Given the description of an element on the screen output the (x, y) to click on. 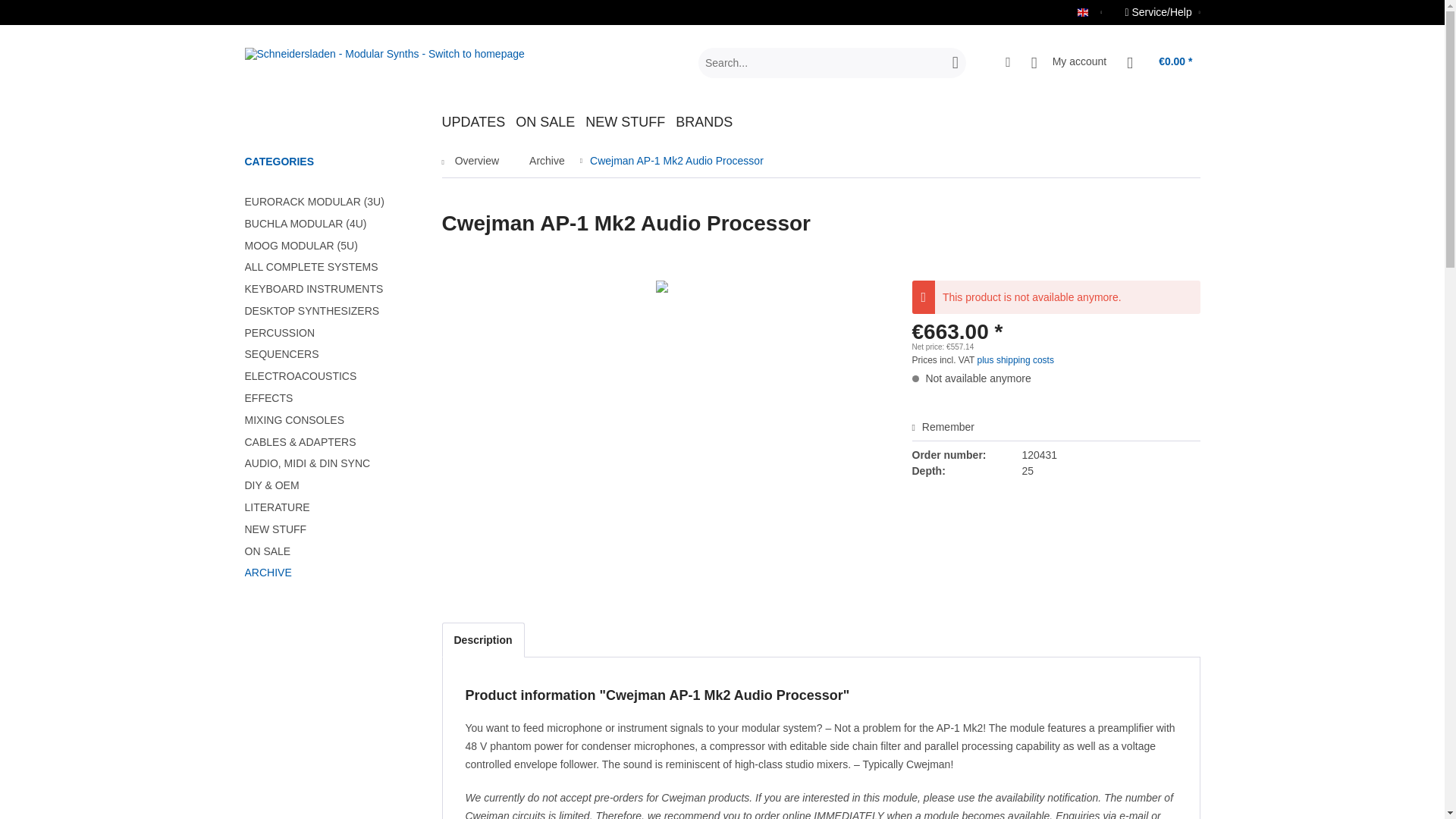
UPDATES (478, 122)
ALL COMPLETE SYSTEMS (327, 267)
SEQUENCERS (327, 354)
DESKTOP SYNTHESIZERS (327, 311)
ELECTROACOUSTICS (327, 376)
ON SALE (550, 122)
PERCUSSION (820, 122)
ON SALE (327, 332)
My account (550, 122)
